Given the description of an element on the screen output the (x, y) to click on. 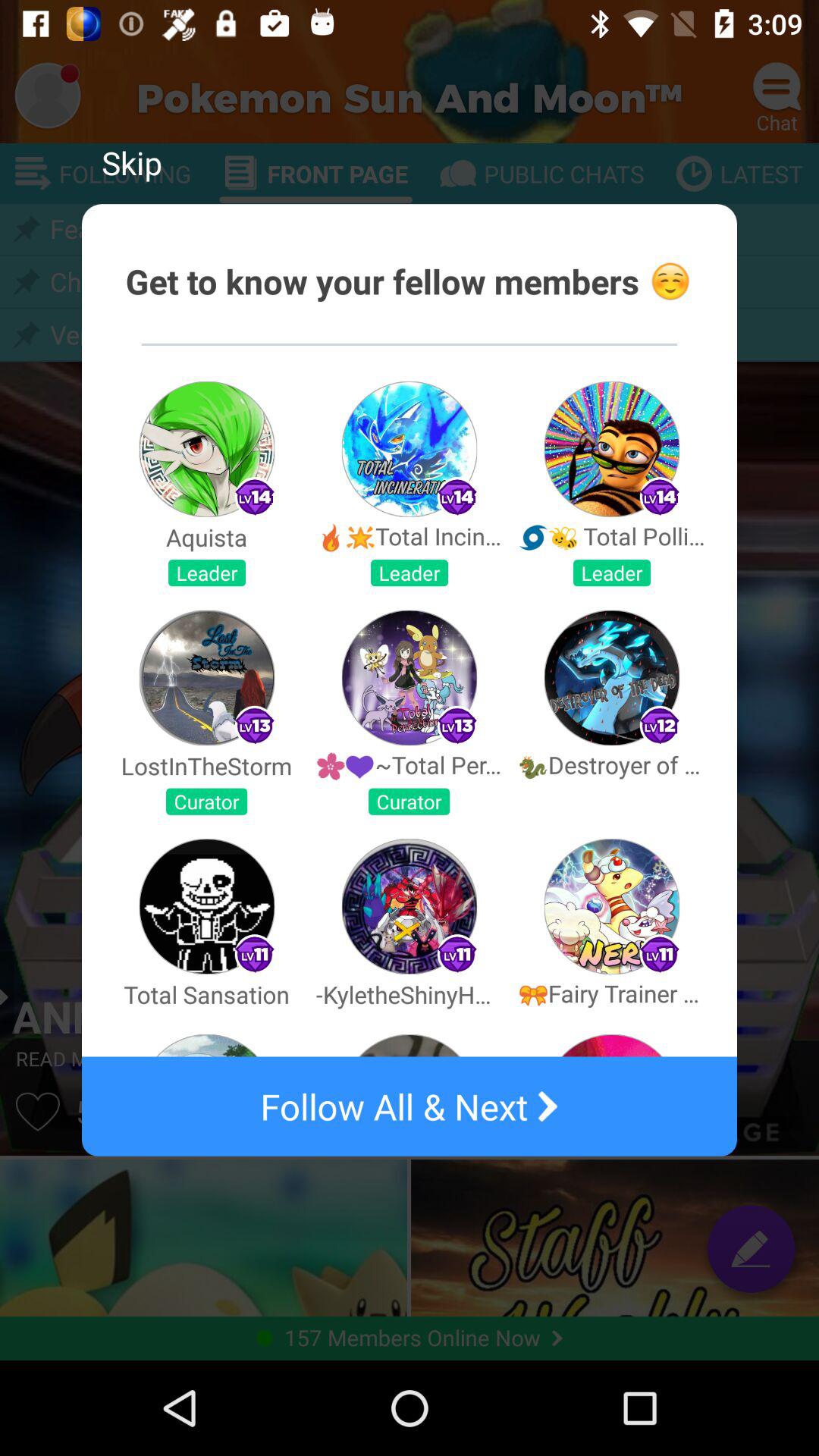
press item above the get to know app (131, 162)
